Given the description of an element on the screen output the (x, y) to click on. 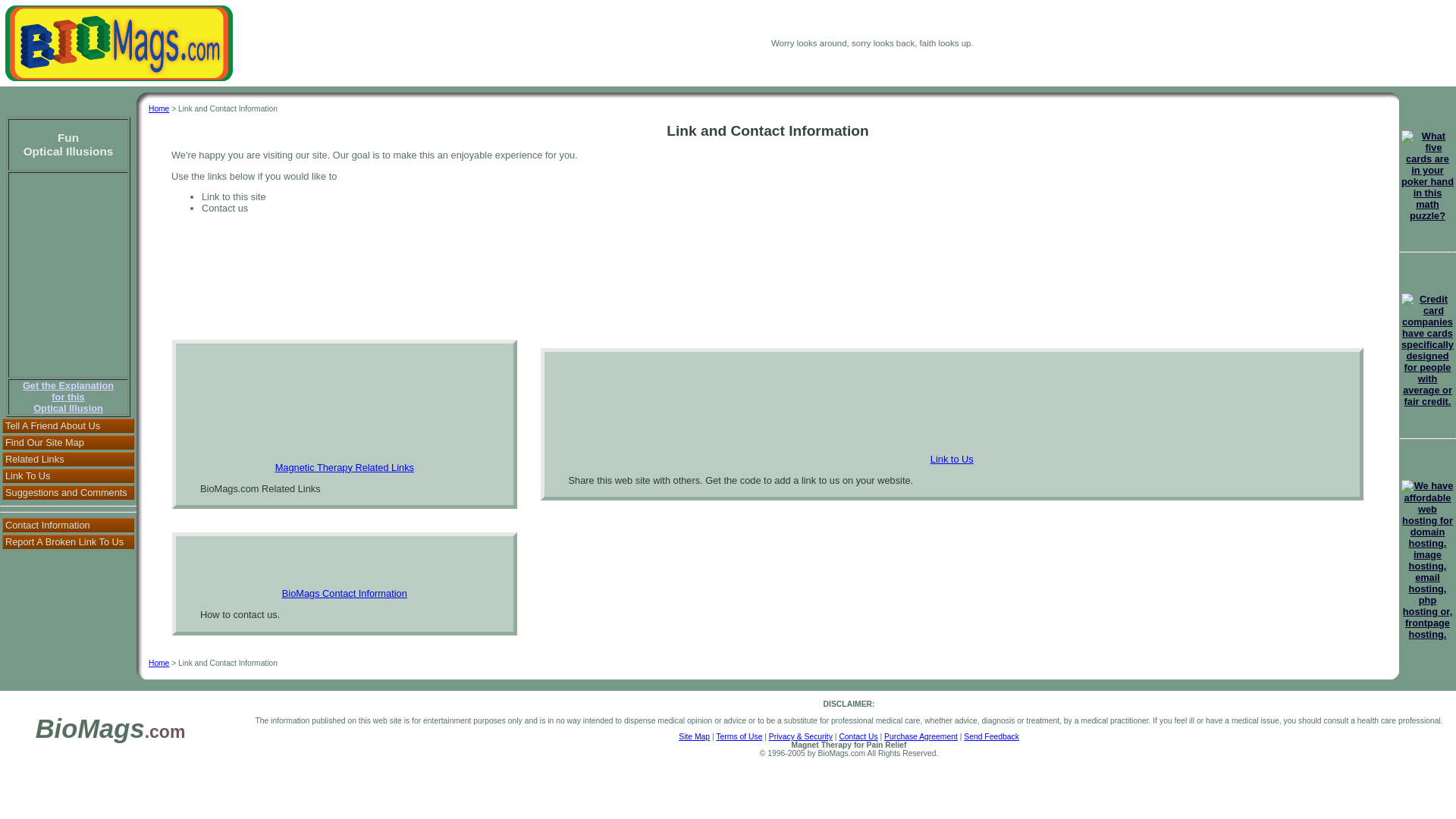
Find Our Site Map (67, 441)
Tell A Friend About Us (67, 425)
Link To Us (68, 397)
Home (67, 475)
Magnetic Therapy Related Links (158, 108)
Get our phone number, email and address. (344, 467)
Suggestions and Comments (67, 524)
Share this site with a friend. (67, 492)
